Given the description of an element on the screen output the (x, y) to click on. 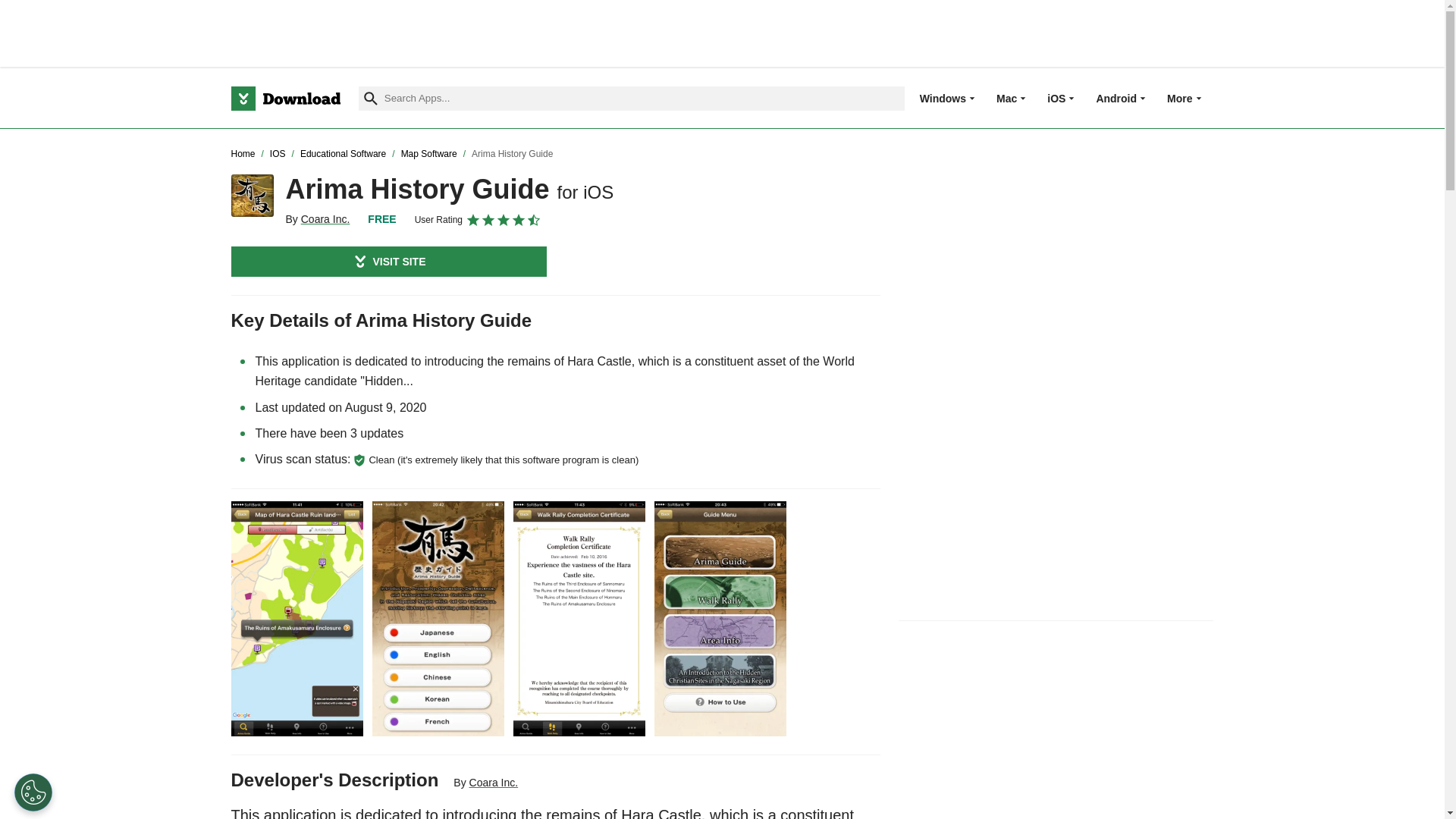
Mac (1005, 97)
Arima History Guide for iOS (251, 195)
Windows (943, 97)
